Given the description of an element on the screen output the (x, y) to click on. 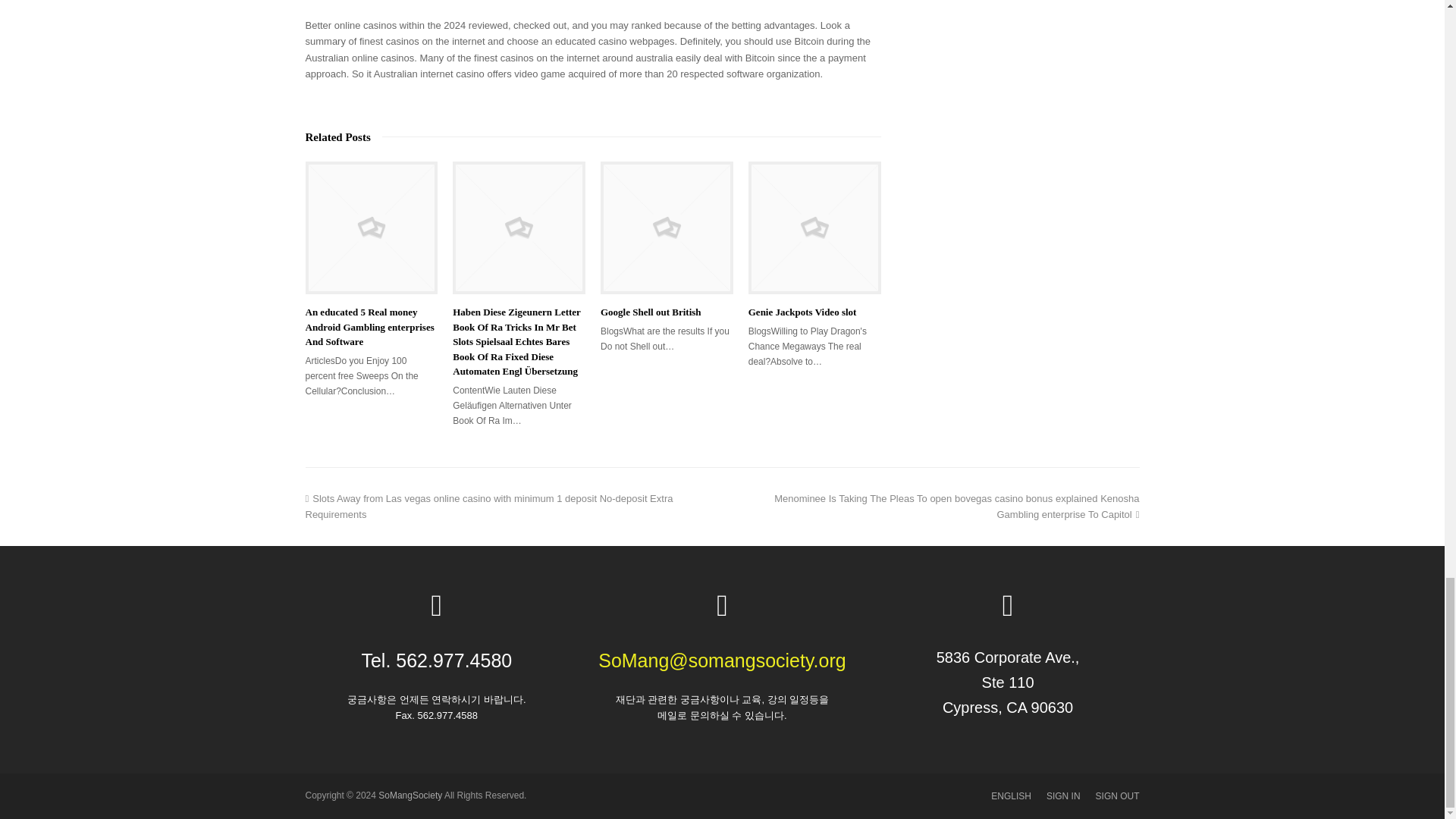
Genie Jackpots Video slot (814, 227)
Google Shell out British (666, 227)
